Given the description of an element on the screen output the (x, y) to click on. 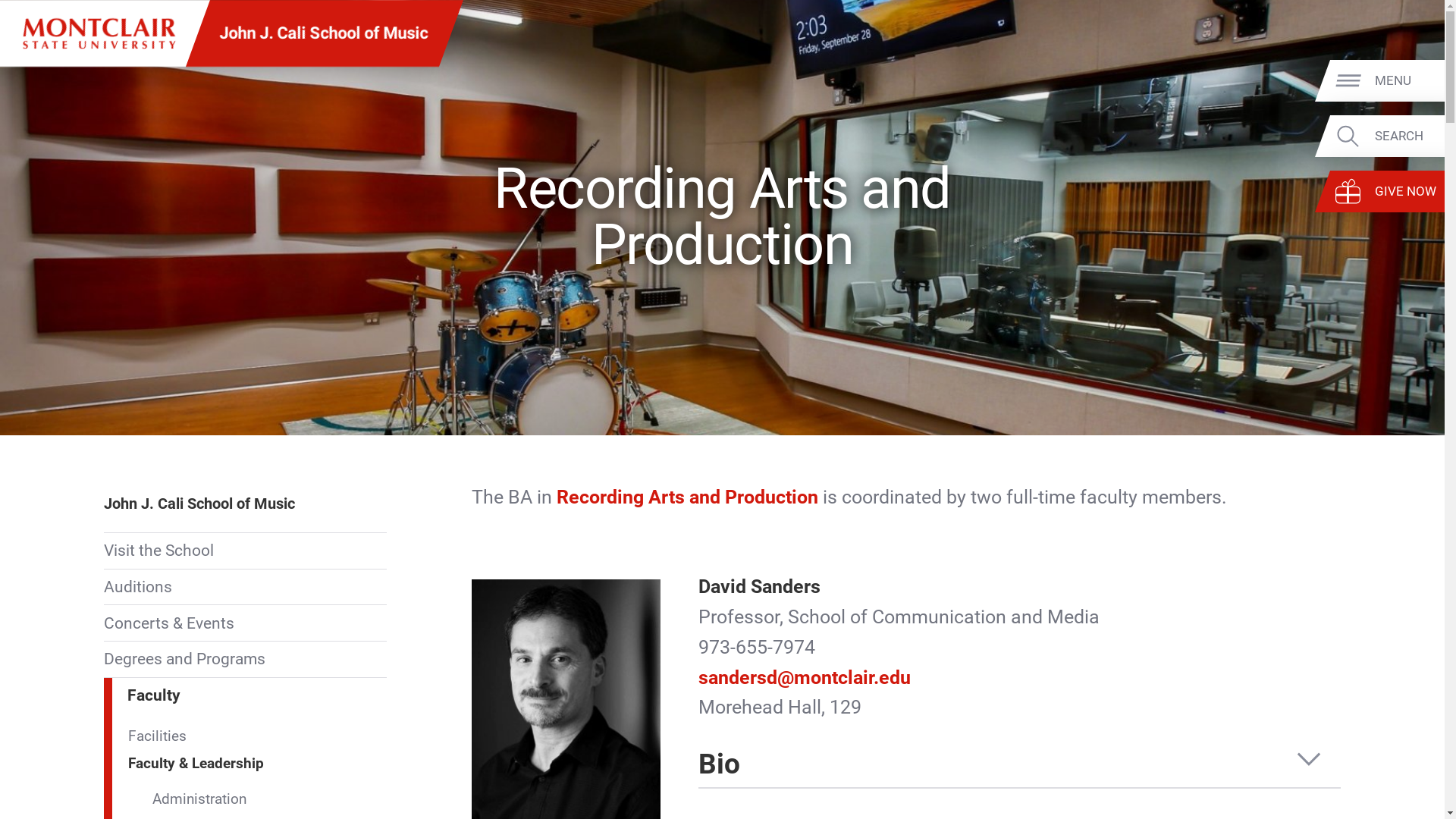
John J. Cali School of Music (323, 33)
SEARCH (1406, 135)
MENU (1406, 81)
GIVE NOW (1406, 191)
